Given the description of an element on the screen output the (x, y) to click on. 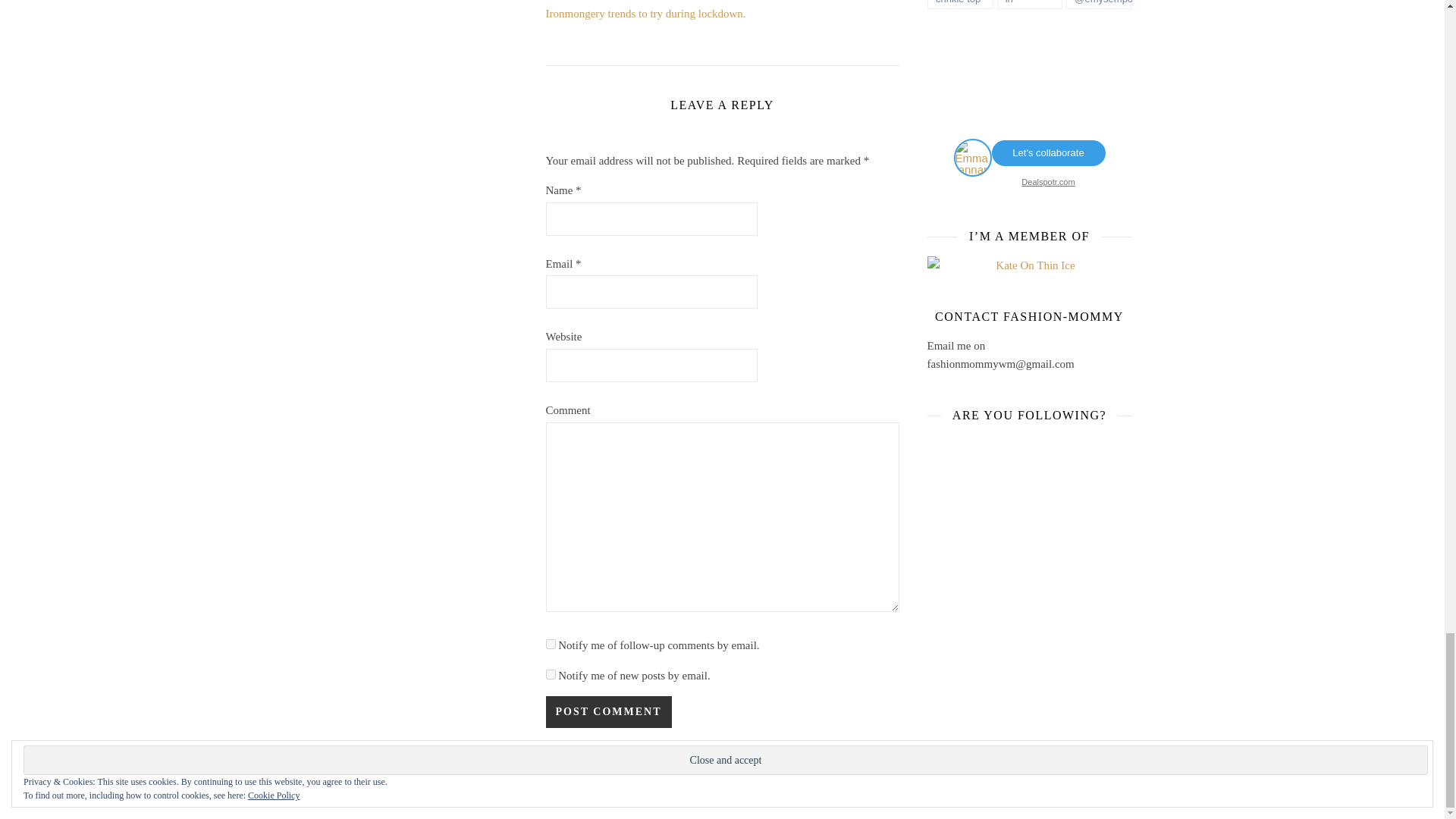
subscribe (551, 674)
Learn how your comment data is processed (711, 757)
Post Comment (608, 712)
subscribe (551, 644)
Ironmongery trends to try during lockdown. (645, 13)
Post Comment (608, 712)
